Given the description of an element on the screen output the (x, y) to click on. 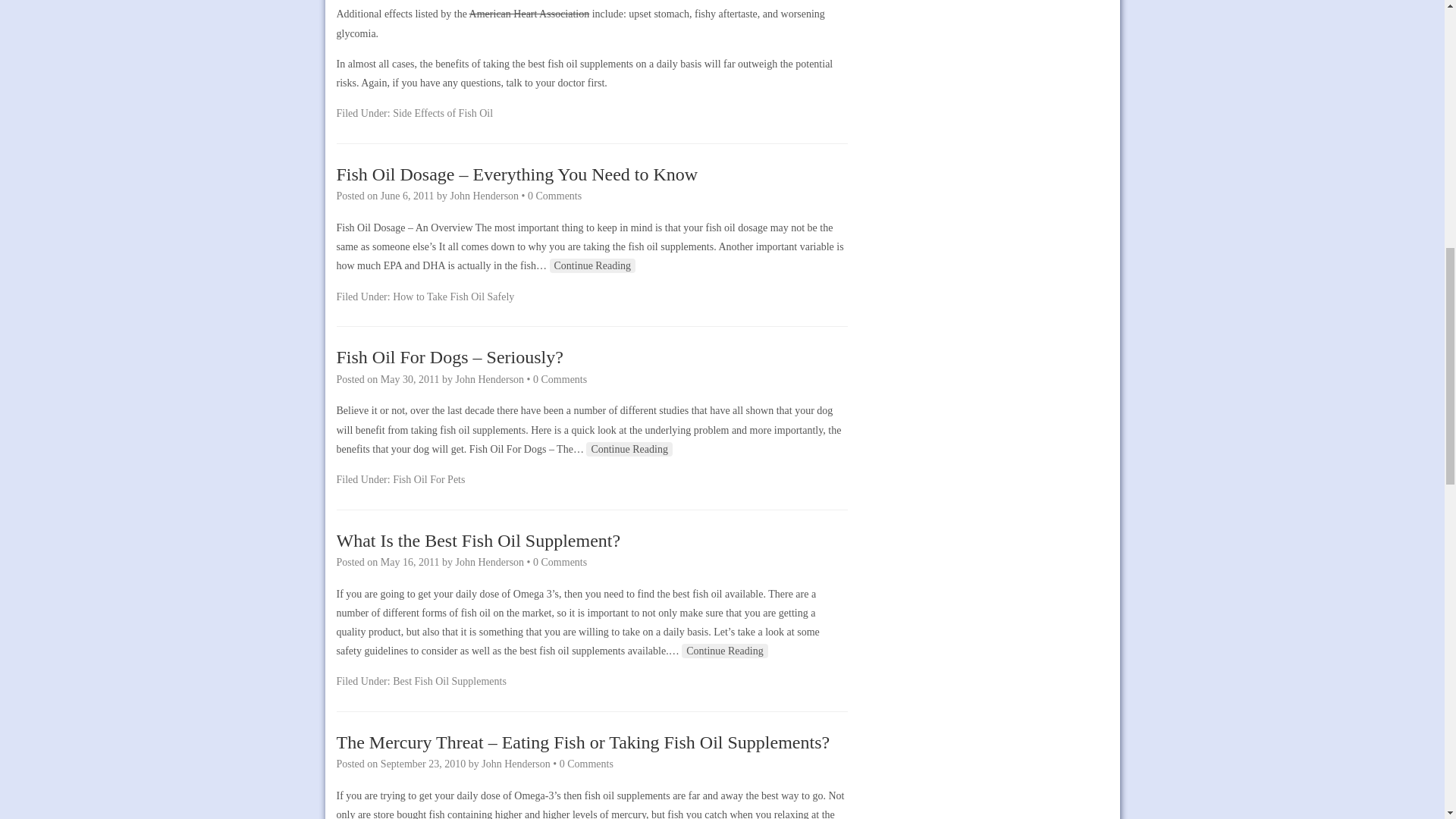
How to Take Fish Oil Safely (453, 296)
View all posts by John Henderson (489, 378)
Continue Reading (629, 449)
Continue Reading (724, 650)
View all posts by John Henderson (489, 562)
Continue Reading (593, 265)
Best Fish Oil Supplements (449, 681)
Fish Oil For Pets (428, 479)
What Is the Best Fish Oil Supplement? Comments (559, 562)
View all posts by John Henderson (484, 195)
